Given the description of an element on the screen output the (x, y) to click on. 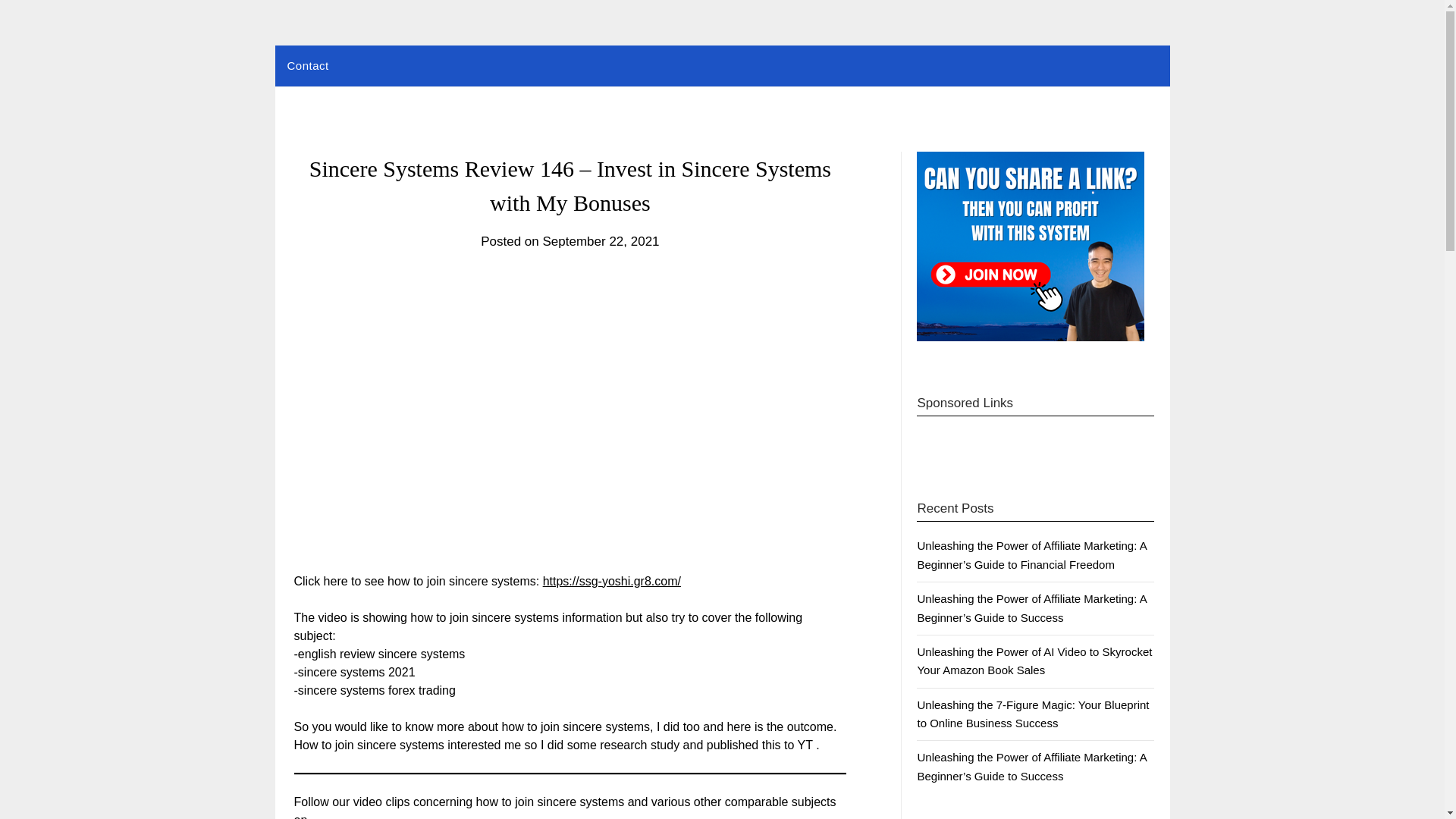
Contact (307, 65)
Tsuyoshi Suzuki Marketing (443, 62)
